Given the description of an element on the screen output the (x, y) to click on. 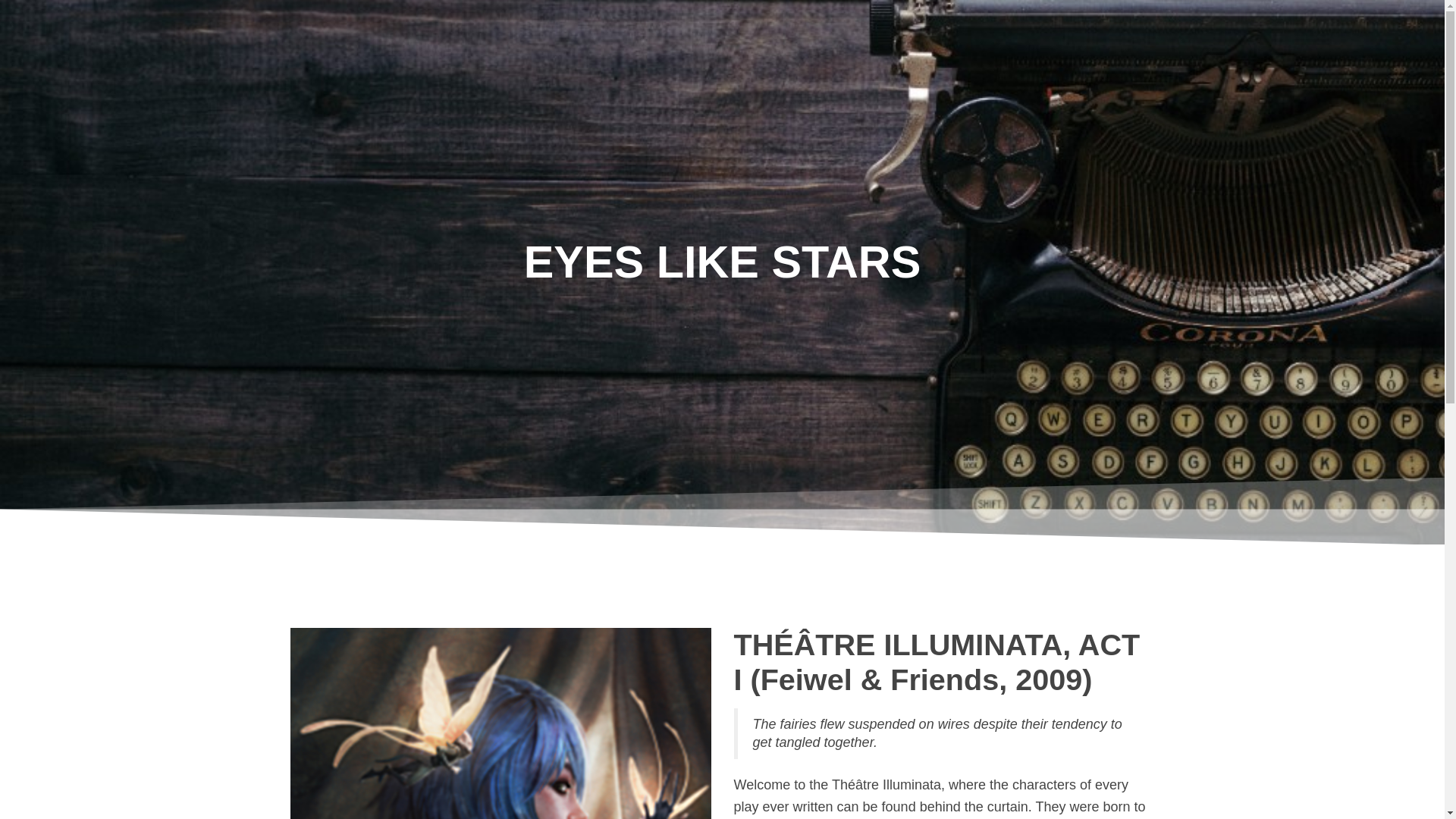
ABOUT LISA (827, 34)
Lisa Mantchev (189, 34)
YOUNG ADULT (1150, 34)
CONTACT ME (1300, 34)
PICTURE BOOKS (983, 34)
